Given the description of an element on the screen output the (x, y) to click on. 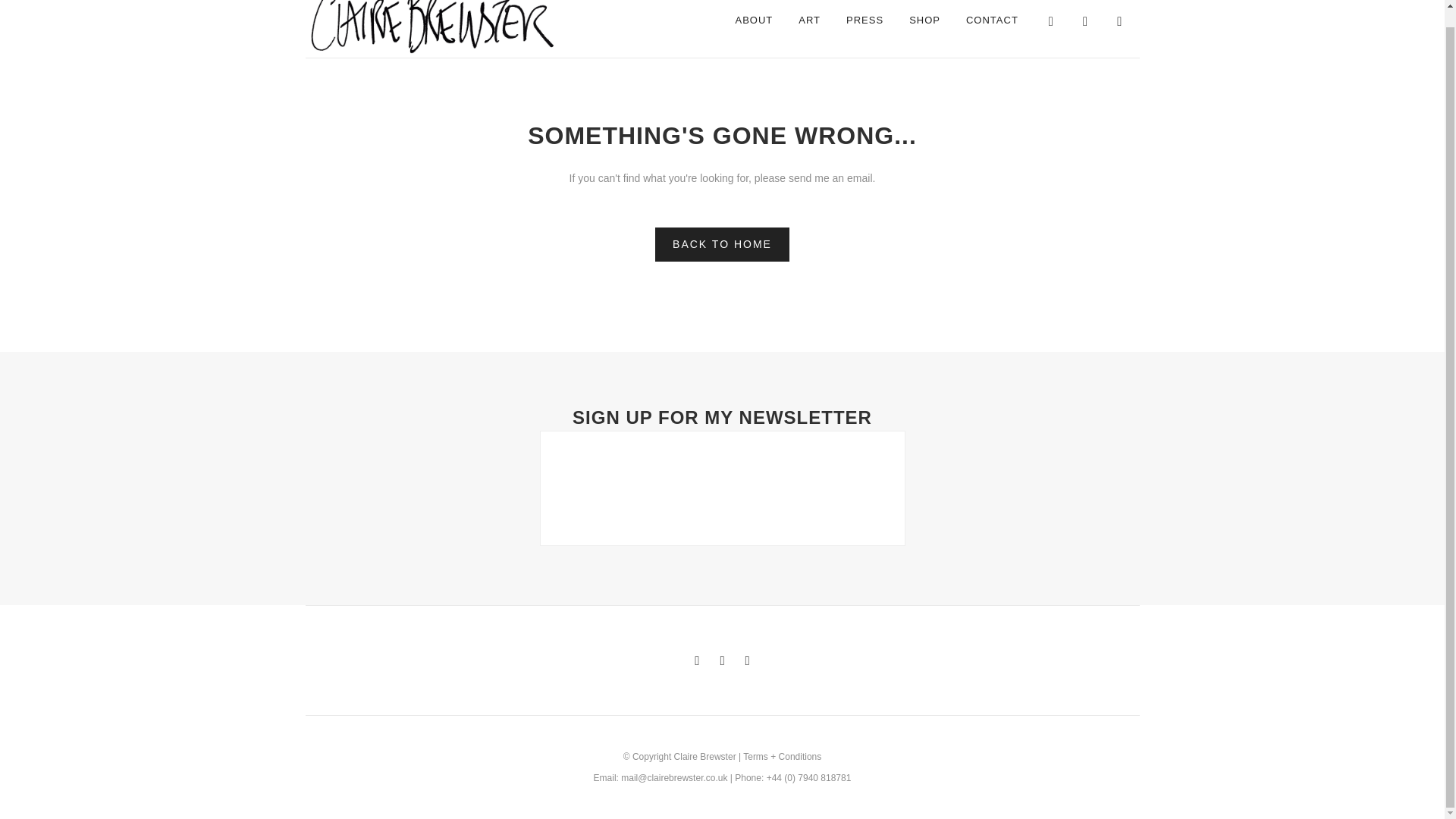
CONTACT (991, 28)
ABOUT (754, 28)
SHOP (924, 28)
BACK TO HOME (722, 244)
PRESS (864, 28)
